Given the description of an element on the screen output the (x, y) to click on. 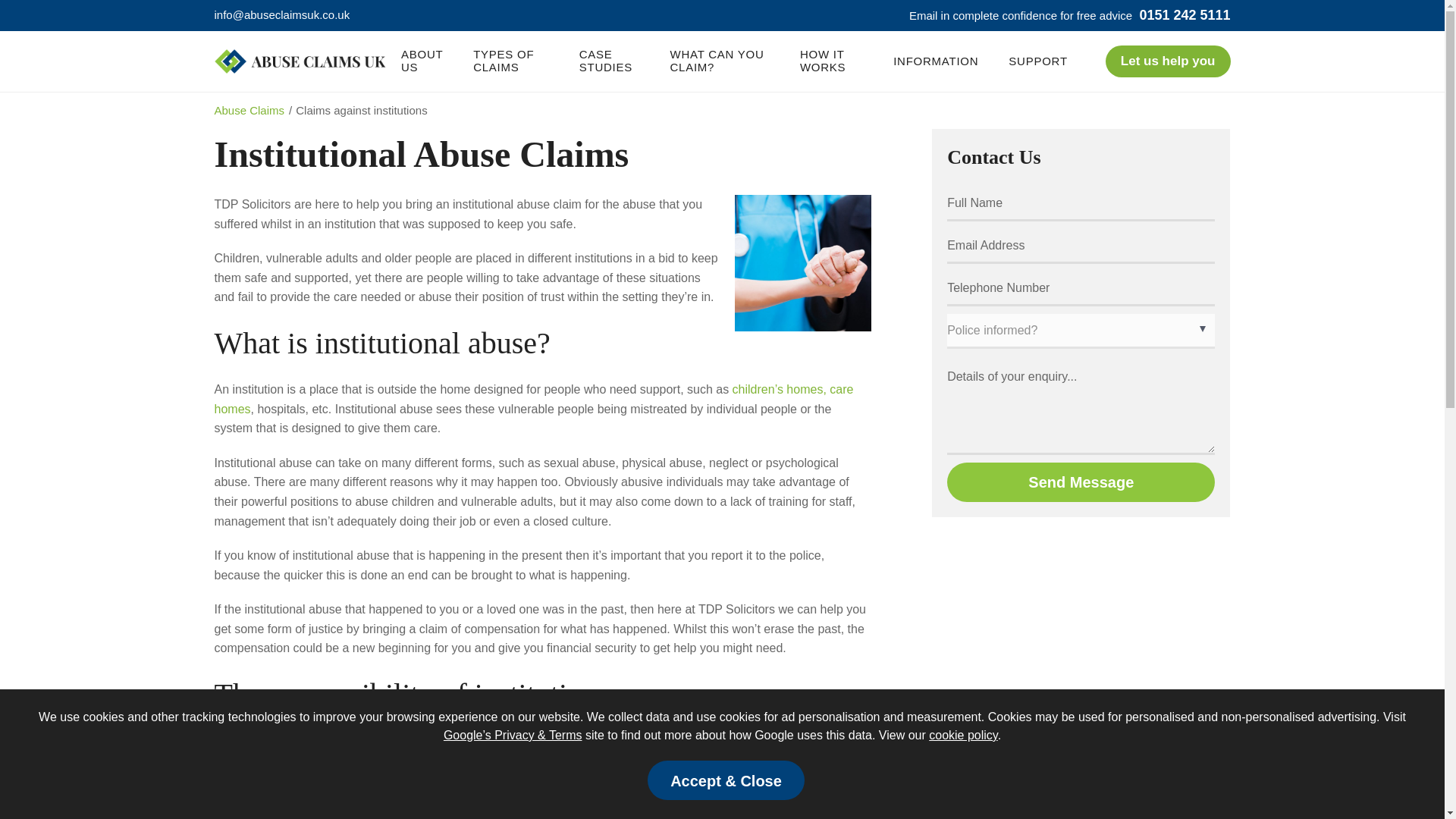
Go to Abuse Claims UK. (250, 110)
0151 242 5111 (1182, 14)
Email in complete confidence for free advice (1020, 15)
Send Message (1080, 482)
